Given the description of an element on the screen output the (x, y) to click on. 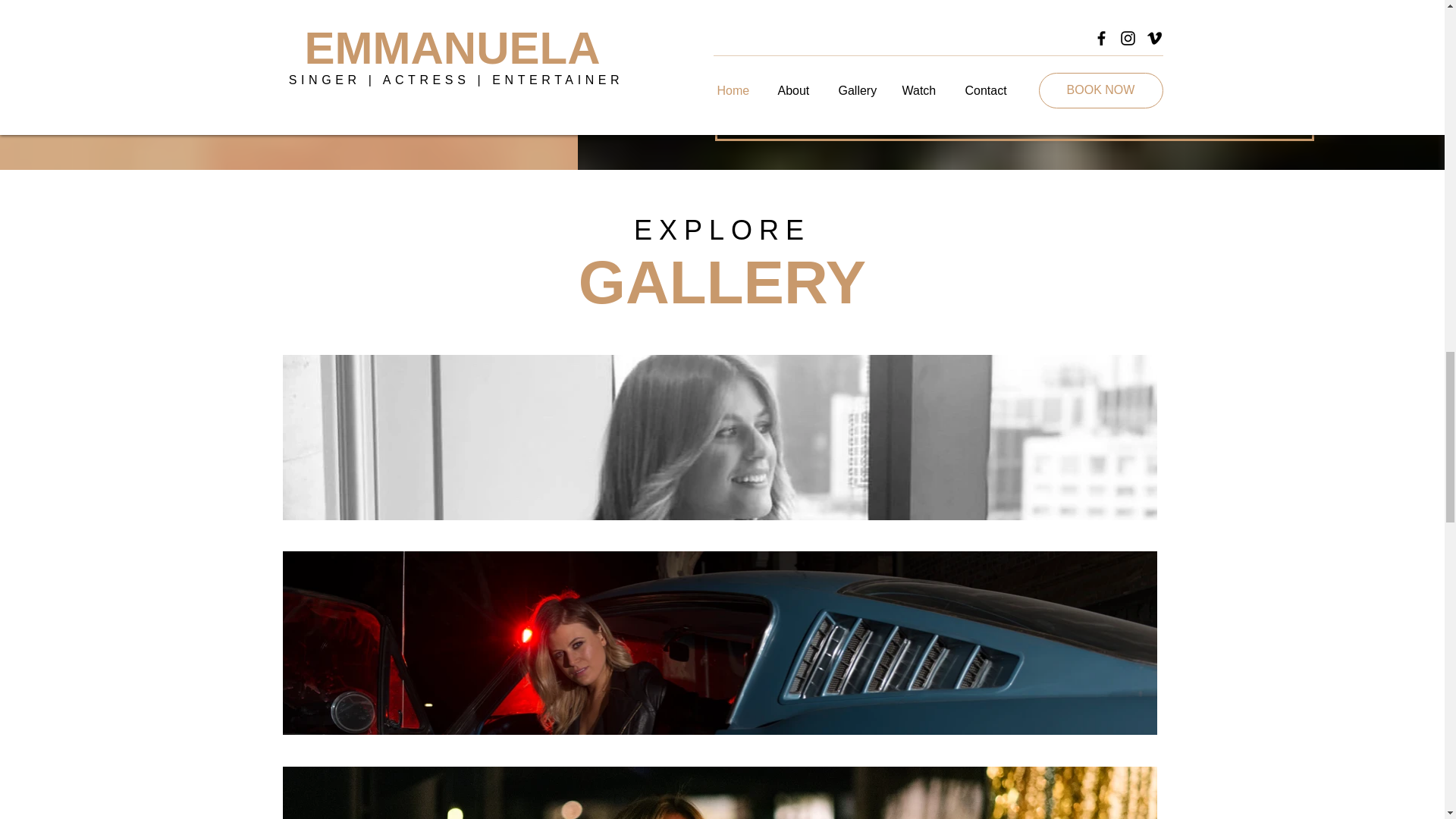
EXPLORE (721, 229)
GALLERY (722, 282)
